Given the description of an element on the screen output the (x, y) to click on. 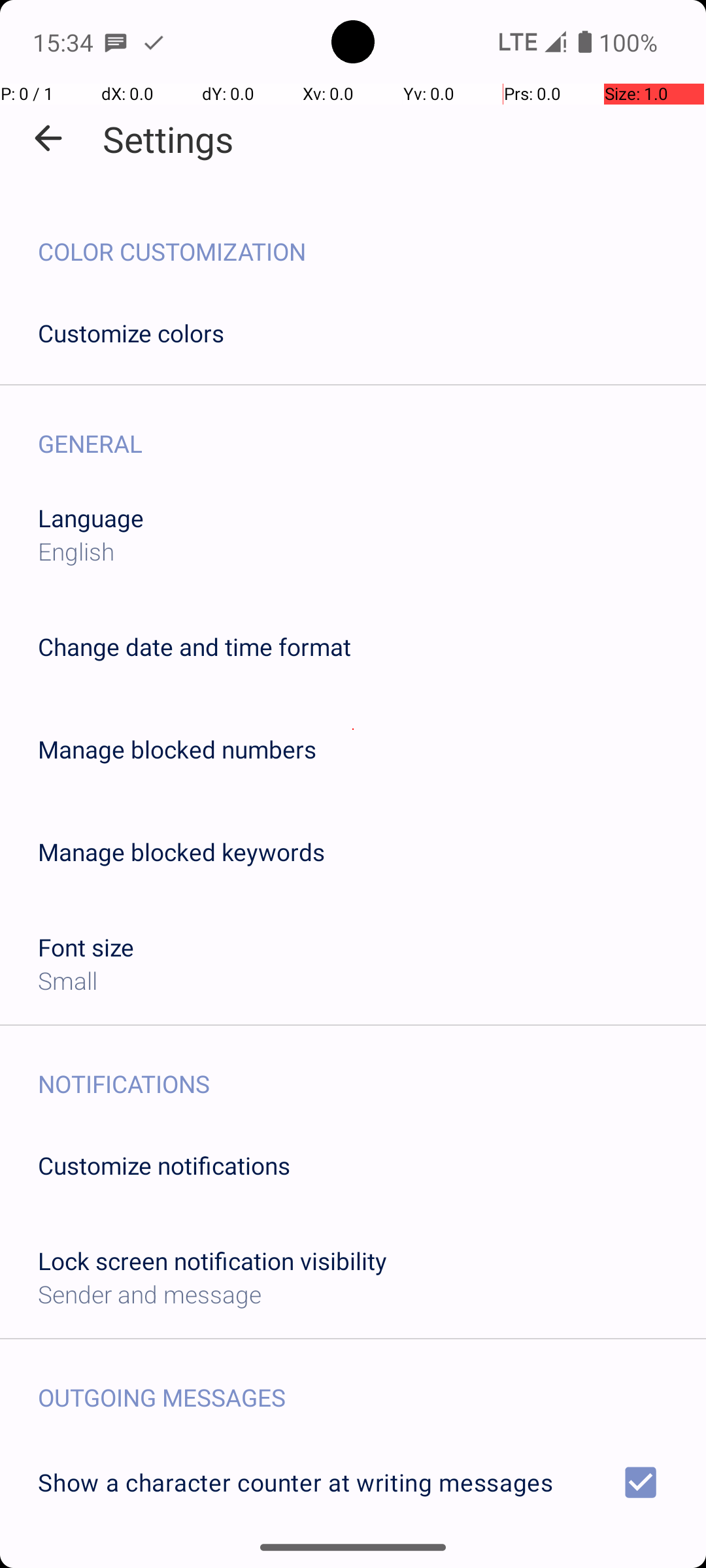
Small Element type: android.widget.TextView (67, 979)
Sender and message Element type: android.widget.TextView (149, 1293)
